Given the description of an element on the screen output the (x, y) to click on. 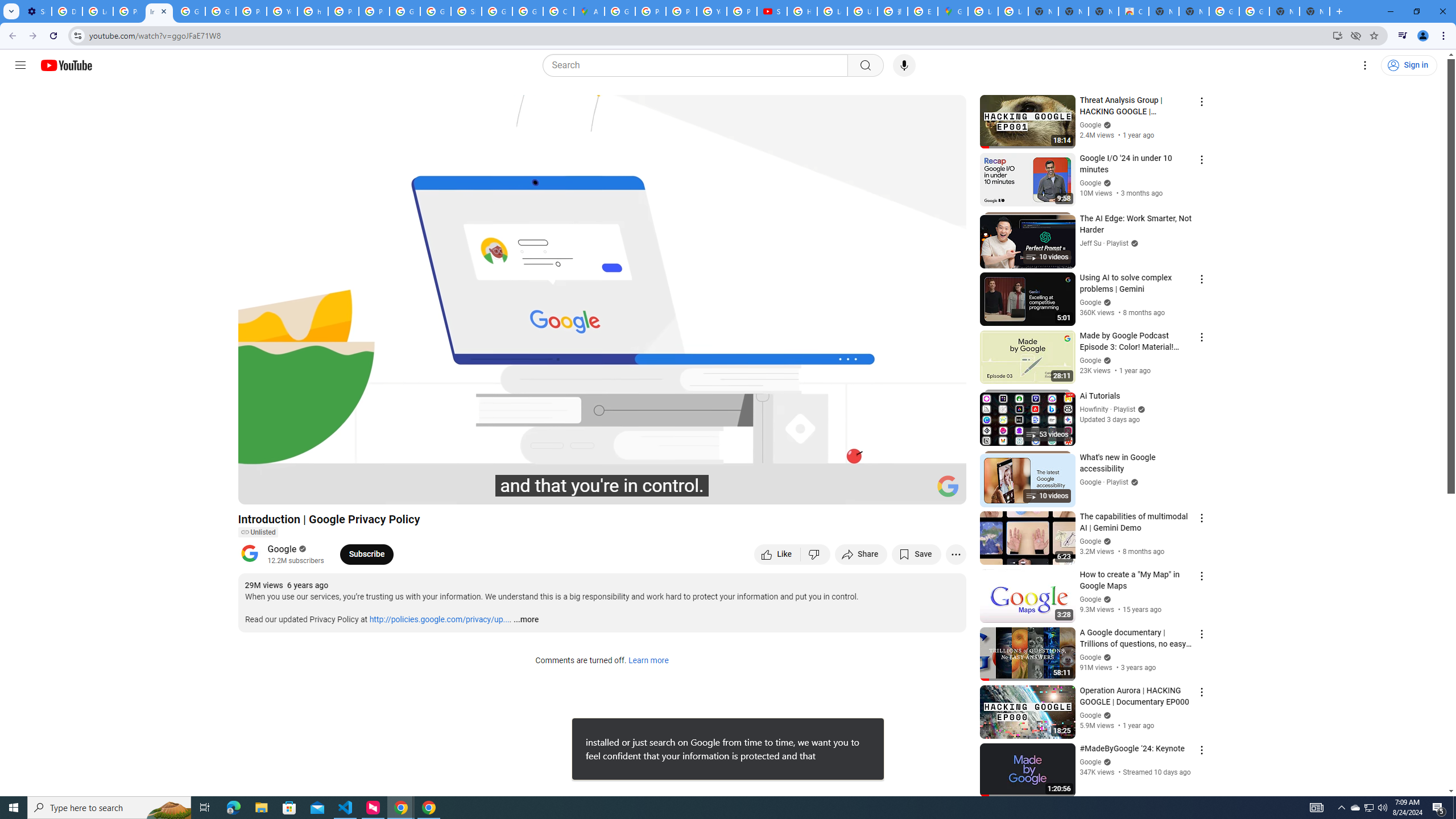
More actions (955, 554)
YouTube Home (66, 65)
Share (861, 554)
Sign in - Google Accounts (465, 11)
Learn more (647, 661)
Next (SHIFT+n) (284, 490)
